Given the description of an element on the screen output the (x, y) to click on. 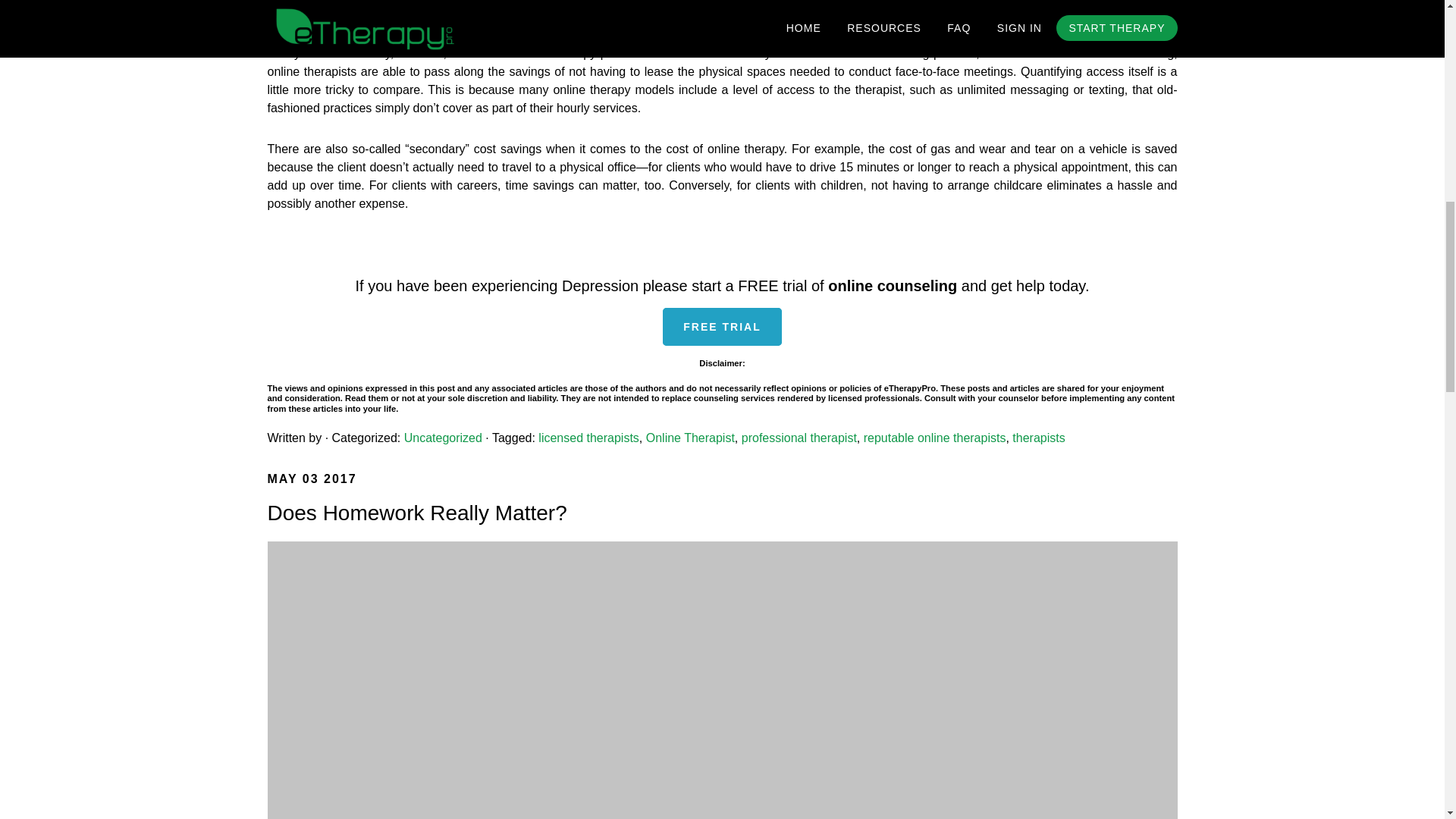
licensed therapists (588, 437)
Uncategorized (442, 437)
therapists (1037, 437)
Online Therapist (690, 437)
reputable online therapists (934, 437)
FREE TRIAL (721, 326)
professional therapist (799, 437)
Does Homework Really Matter? (416, 512)
different types of therapists (925, 34)
